Given the description of an element on the screen output the (x, y) to click on. 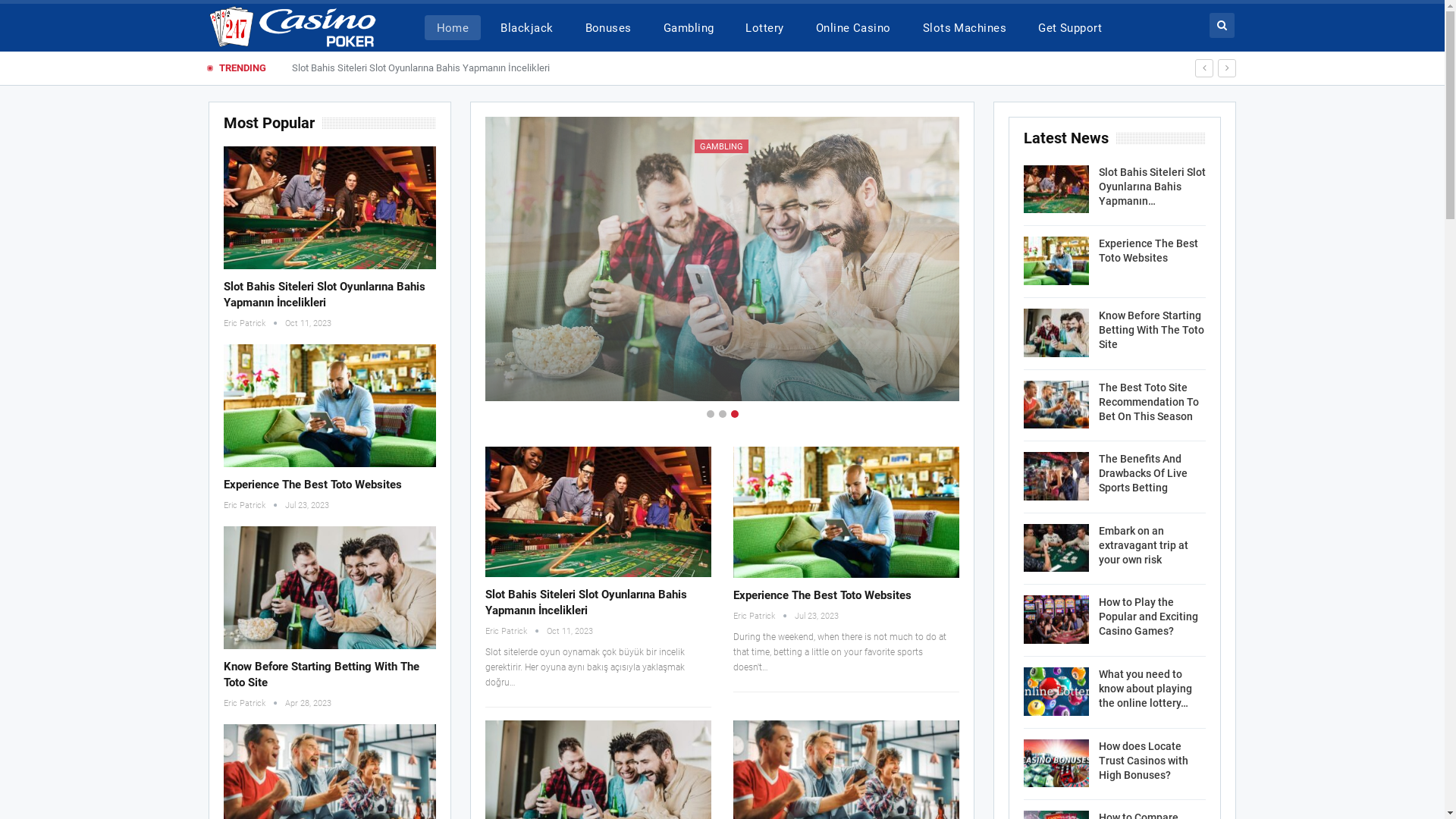
Experience The Best Toto Websites Element type: hover (329, 405)
Know Before Starting Betting With The Toto Site Element type: text (1151, 329)
Know Before Starting Betting With The Toto Site Element type: hover (1055, 332)
Experience The Best Toto Websites Element type: hover (1055, 260)
GAMBLING Element type: text (721, 146)
Lottery Element type: text (764, 27)
Experience The Best Toto Websites Element type: hover (845, 511)
Slots Machines Element type: text (964, 27)
Gambling Element type: text (688, 27)
Experience The Best Toto Websites Element type: text (312, 484)
1 Element type: text (710, 413)
Eric Patrick Element type: text (699, 370)
Experience The Best Toto Websites Element type: text (1148, 250)
Home Element type: text (452, 27)
Eric Patrick Element type: text (254, 323)
The Benefits And Drawbacks Of Live Sports Betting Element type: hover (1055, 475)
Experience The Best Toto Websites Element type: text (821, 595)
The Benefits And Drawbacks Of Live Sports Betting Element type: text (1142, 472)
Eric Patrick Element type: text (515, 631)
Bonuses Element type: text (608, 27)
Know Before Starting Betting With The Toto Site Element type: text (321, 674)
Eric Patrick Element type: text (254, 505)
Know Before Starting Betting With The Toto Site Element type: hover (329, 587)
The Best Toto Site Recommendation To Bet On This Season Element type: hover (1055, 404)
Embark on an extravagant trip at your own risk Element type: text (1143, 544)
How to Play the Popular and Exciting Casino Games? Element type: text (1148, 616)
Online Casino Element type: text (853, 27)
The Best Toto Site Recommendation To Bet On This Season Element type: text (1148, 401)
2 Element type: text (722, 413)
How to Play the Popular and Exciting Casino Games? Element type: hover (1055, 619)
Blackjack Element type: text (526, 27)
Eric Patrick Element type: text (254, 703)
Get Support Element type: text (1069, 27)
How does Locate Trust Casinos with High Bonuses? Element type: hover (1055, 763)
3 Element type: text (734, 413)
Embark on an extravagant trip at your own risk Element type: hover (1055, 548)
Eric Patrick Element type: text (762, 616)
How does Locate Trust Casinos with High Bonuses? Element type: text (1143, 760)
